Given the description of an element on the screen output the (x, y) to click on. 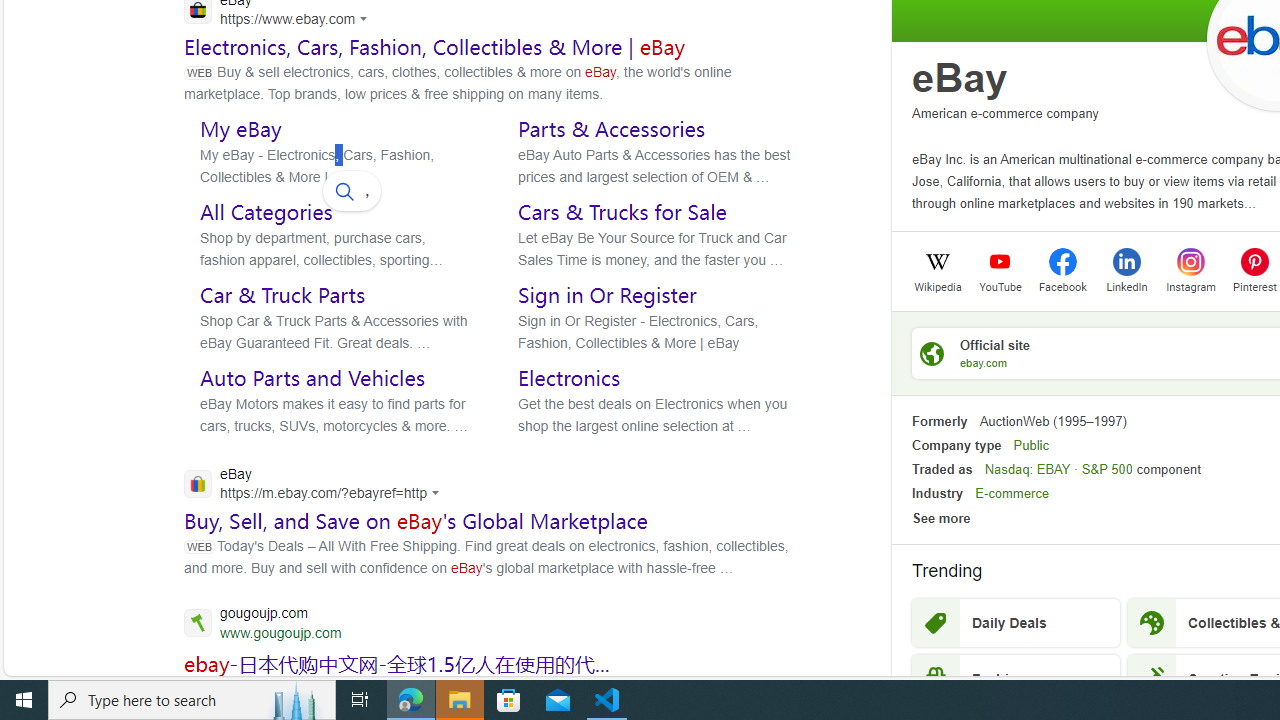
Traded as (941, 469)
Auto Parts and Vehicles (311, 377)
American e-commerce company (1005, 112)
Cars & Trucks for Sale (622, 211)
Formerly (939, 421)
All Categories (265, 211)
LinkedIn (1126, 285)
Company type (956, 444)
My eBay (240, 128)
eBay (959, 78)
EBAY (1053, 469)
Fashion (1015, 678)
